Given the description of an element on the screen output the (x, y) to click on. 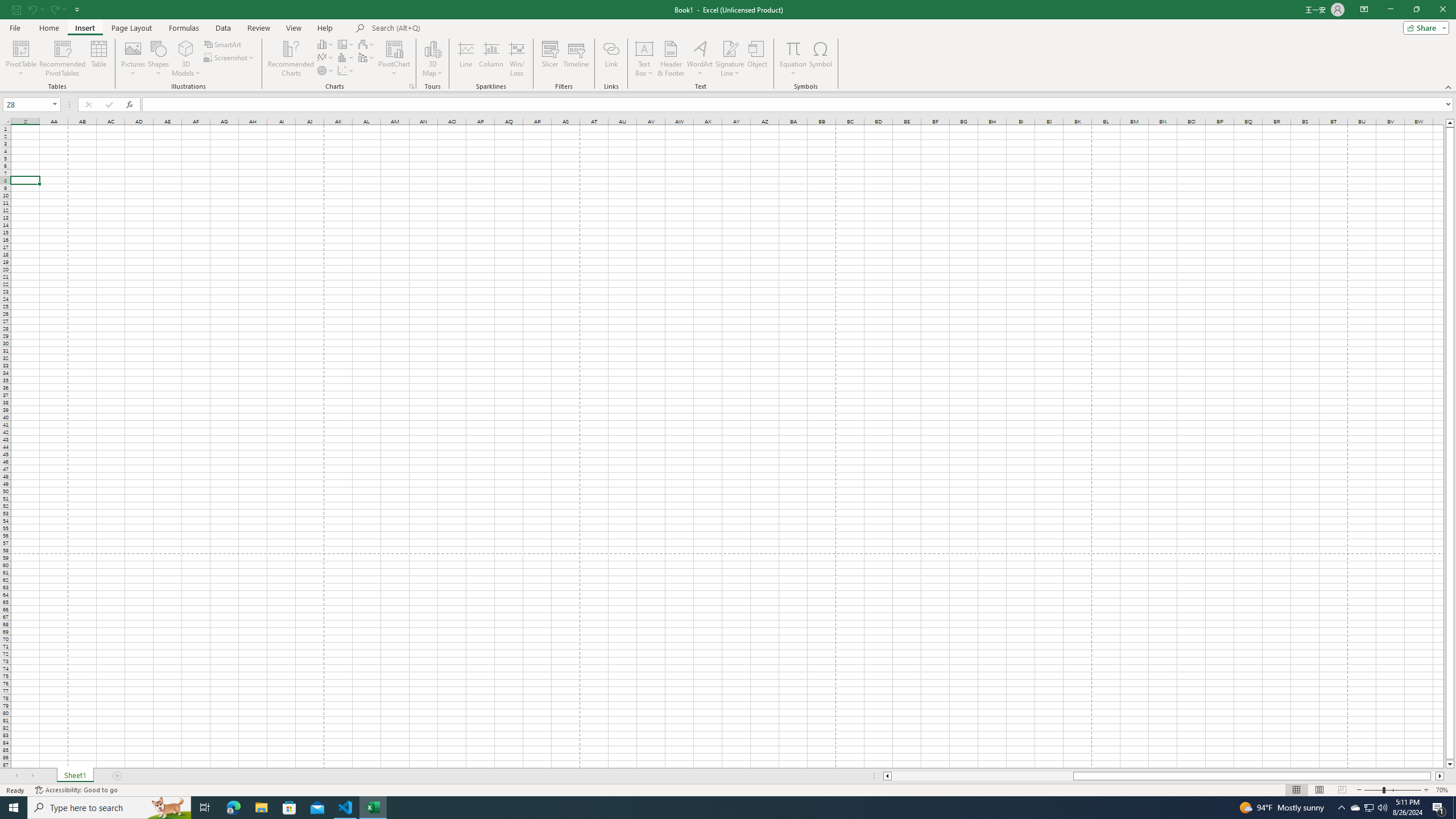
3D Models (186, 58)
Line (465, 58)
SmartArt... (223, 44)
Insert Waterfall, Funnel, Stock, Surface, or Radar Chart (366, 44)
Insert Statistic Chart (346, 56)
Slicer... (550, 58)
